Given the description of an element on the screen output the (x, y) to click on. 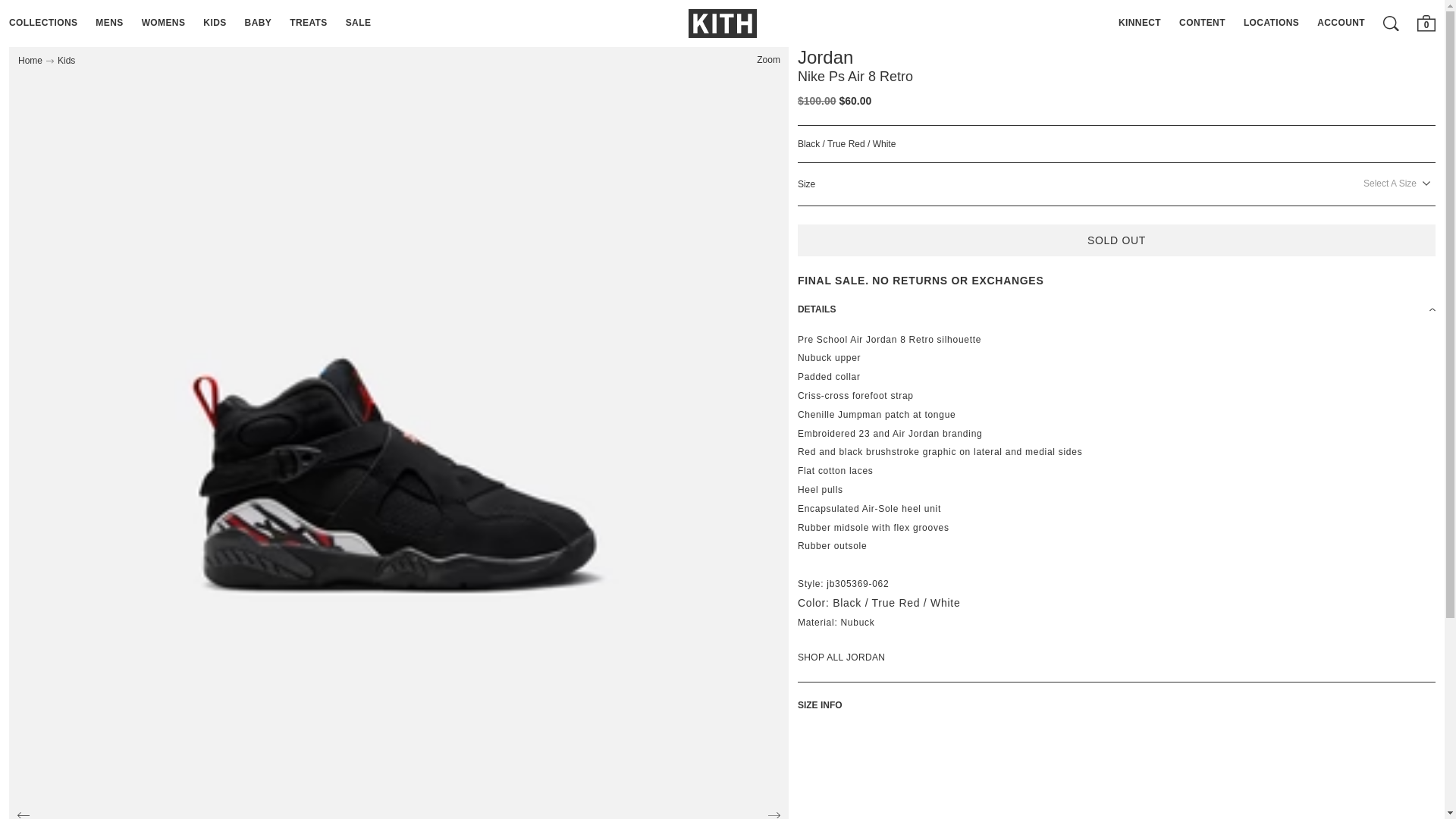
jb305369-062 (857, 583)
KITH LOGO (722, 23)
Kith (722, 23)
